Given the description of an element on the screen output the (x, y) to click on. 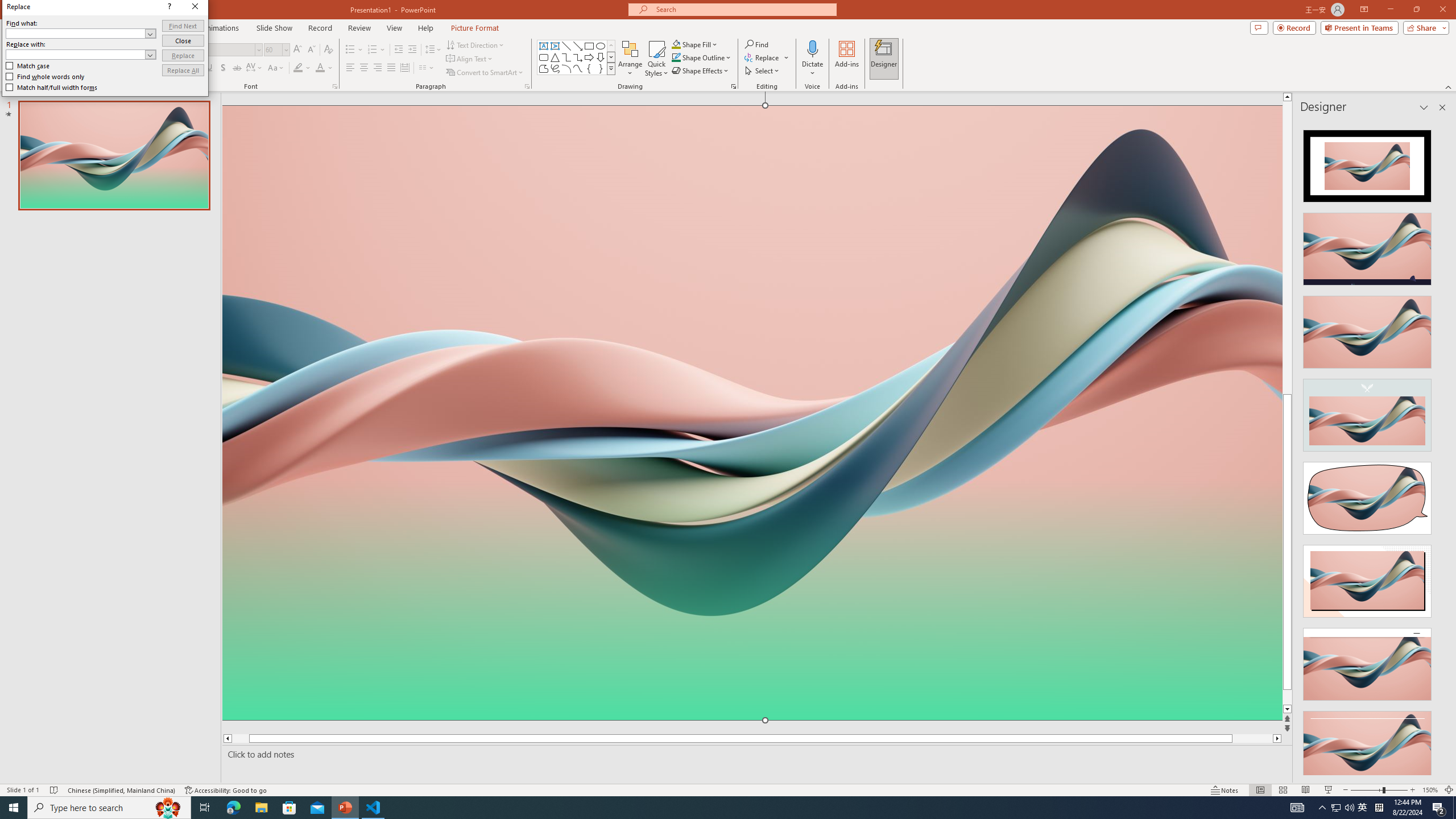
Increase Indent (412, 49)
Shape Fill Orange, Accent 2 (675, 44)
Align Left (349, 67)
Shape Outline (701, 56)
Arrow: Down (600, 57)
Context help (842, 280)
Find Next (857, 299)
